Given the description of an element on the screen output the (x, y) to click on. 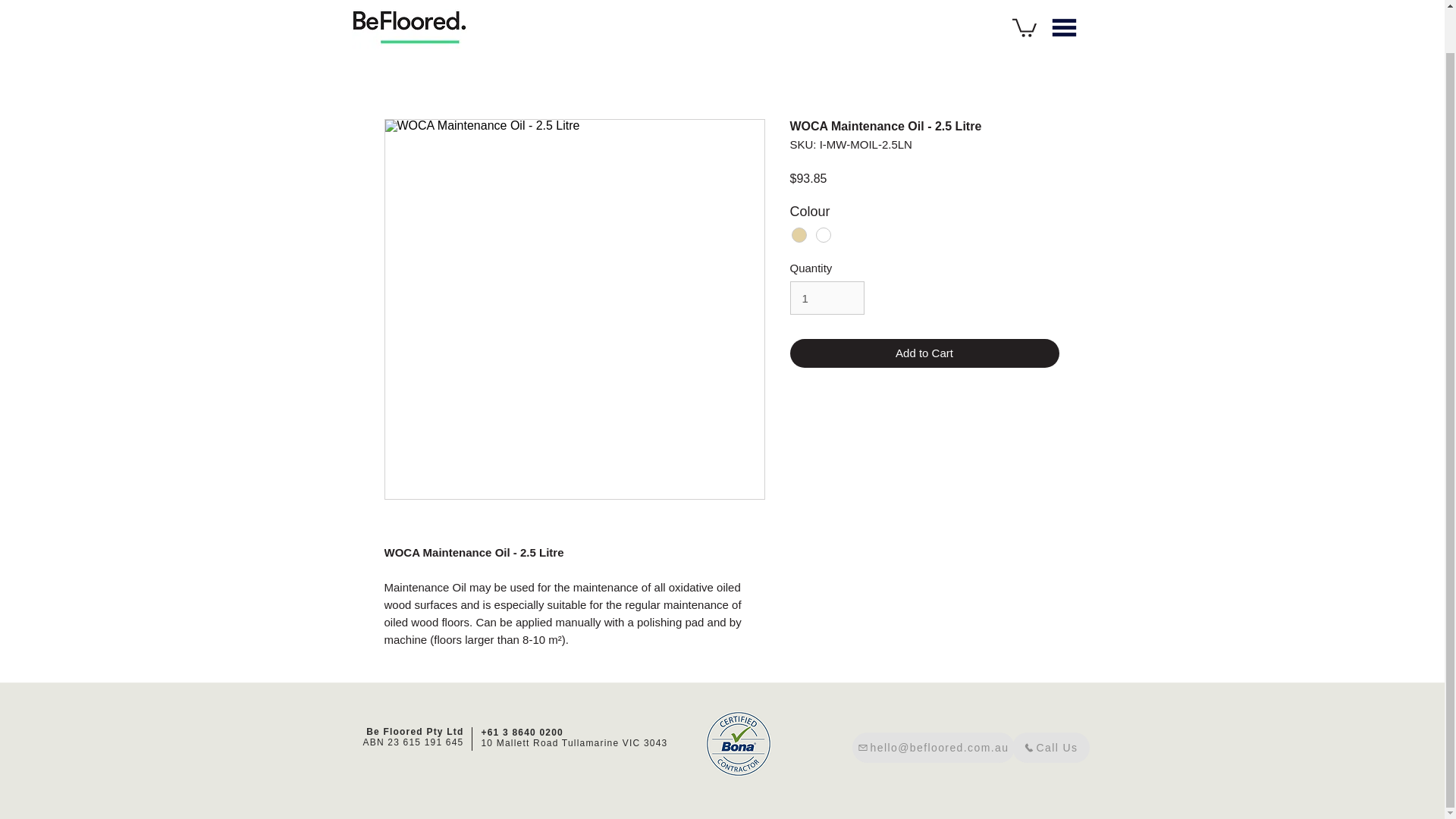
1 (827, 297)
Call Us (1050, 747)
Add to Cart (924, 353)
